Given the description of an element on the screen output the (x, y) to click on. 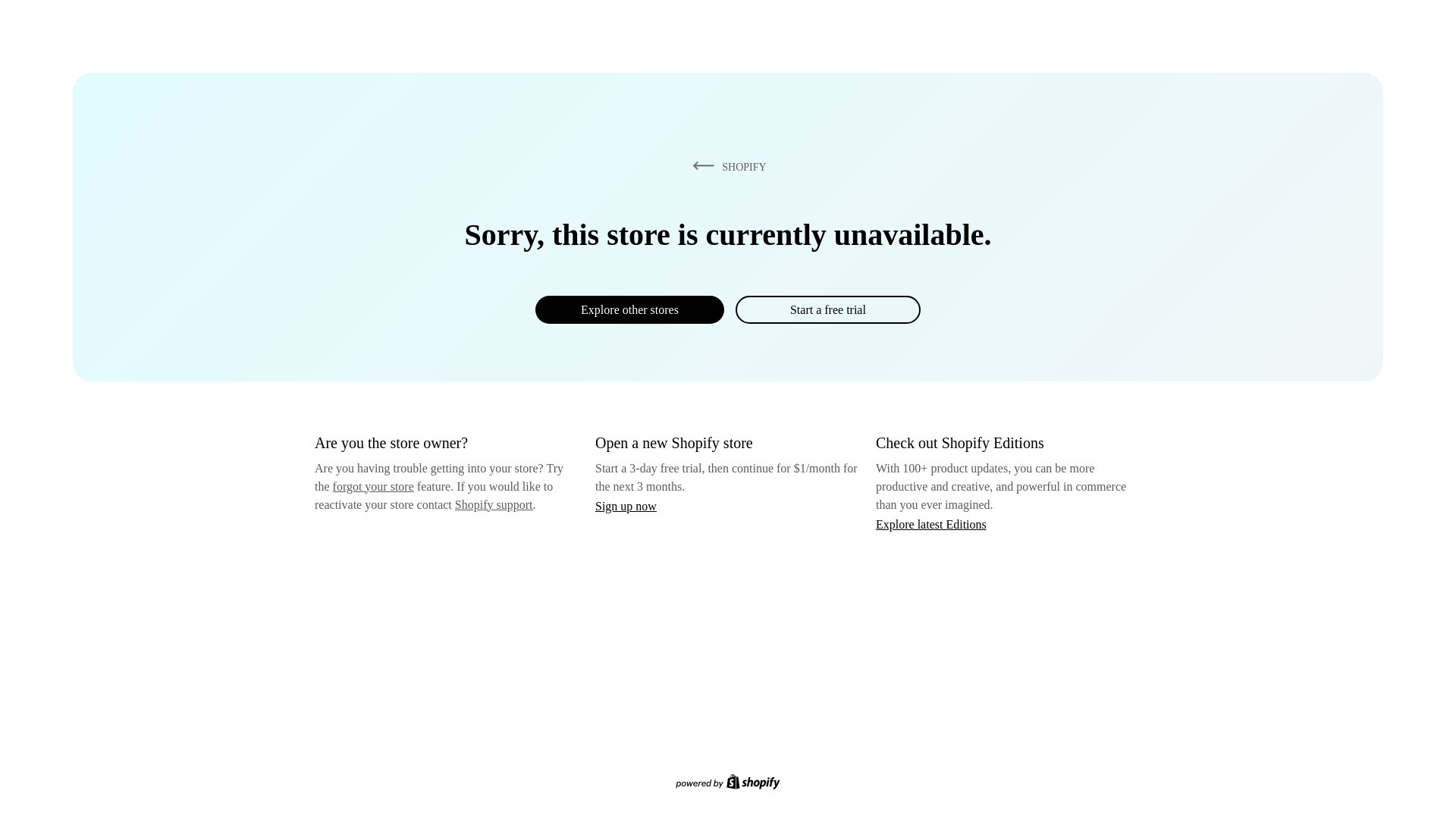
Shopify support (493, 504)
forgot your store (373, 486)
SHOPIFY (726, 166)
Explore latest Editions (931, 523)
Start a free trial (827, 309)
Explore other stores (629, 309)
Sign up now (625, 505)
